Given the description of an element on the screen output the (x, y) to click on. 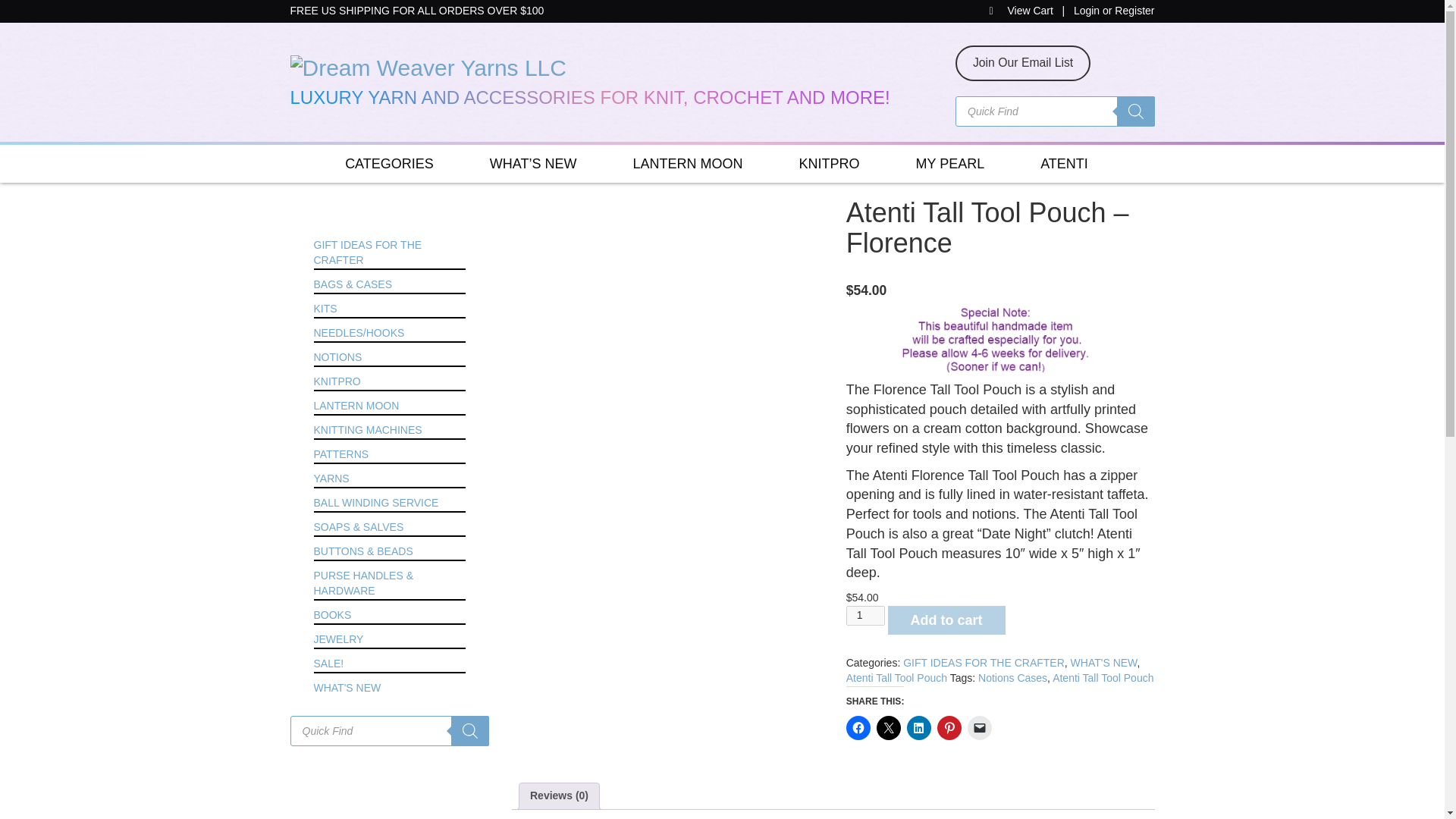
GIFT IDEAS FOR THE CRAFTER (983, 662)
View Cart (1021, 10)
MY PEARL (948, 163)
ATENTI (1063, 163)
CATEGORIES (389, 163)
LUXURY YARN AND ACCESSORIES FOR KNIT, CROCHET AND MORE! (611, 80)
View your shopping cart (1021, 10)
Click to share on X (888, 727)
Atenti Tall Tool Pouch (896, 677)
Notions Cases (1012, 677)
